Given the description of an element on the screen output the (x, y) to click on. 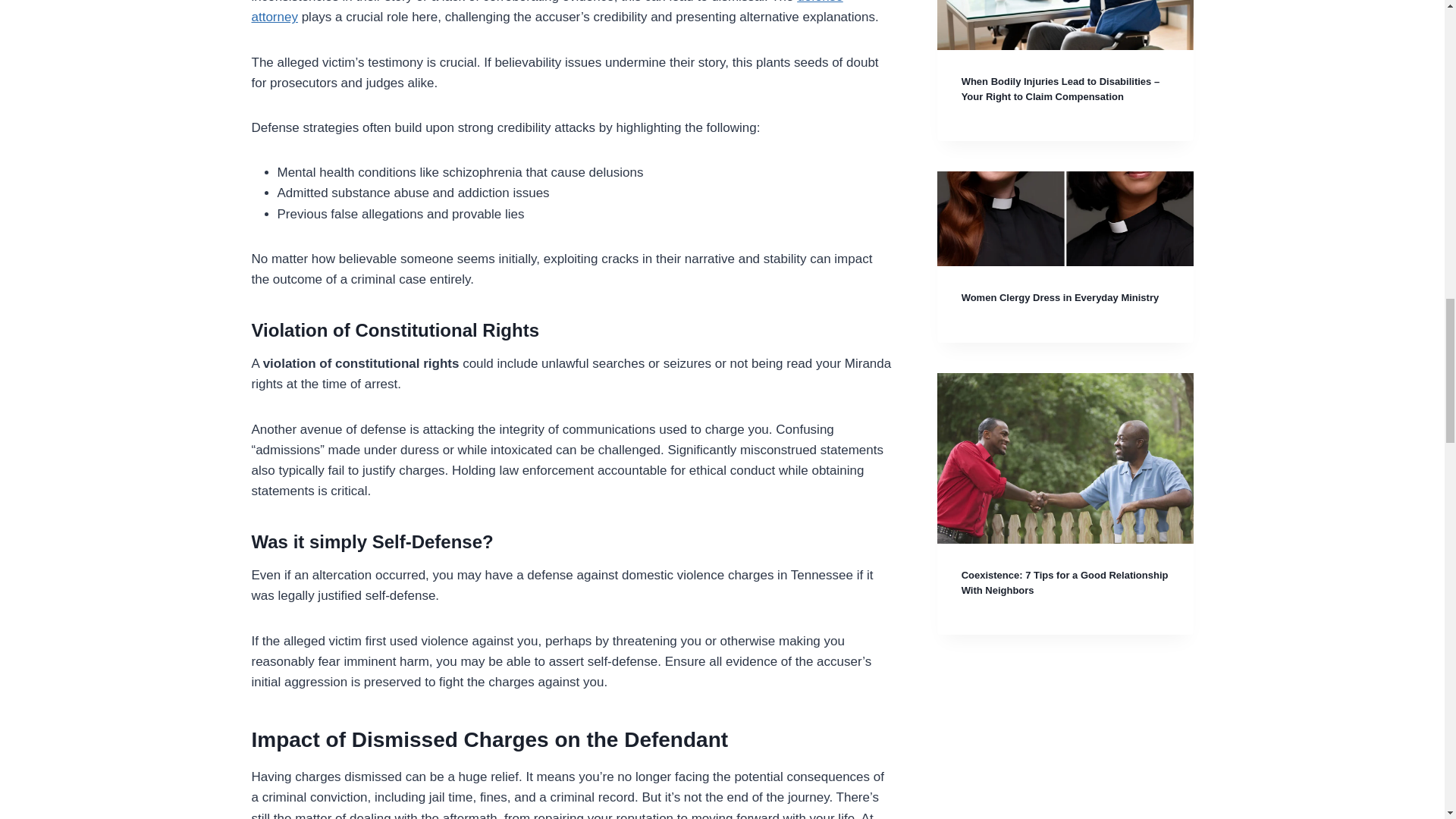
defense attorney (547, 12)
